Given the description of an element on the screen output the (x, y) to click on. 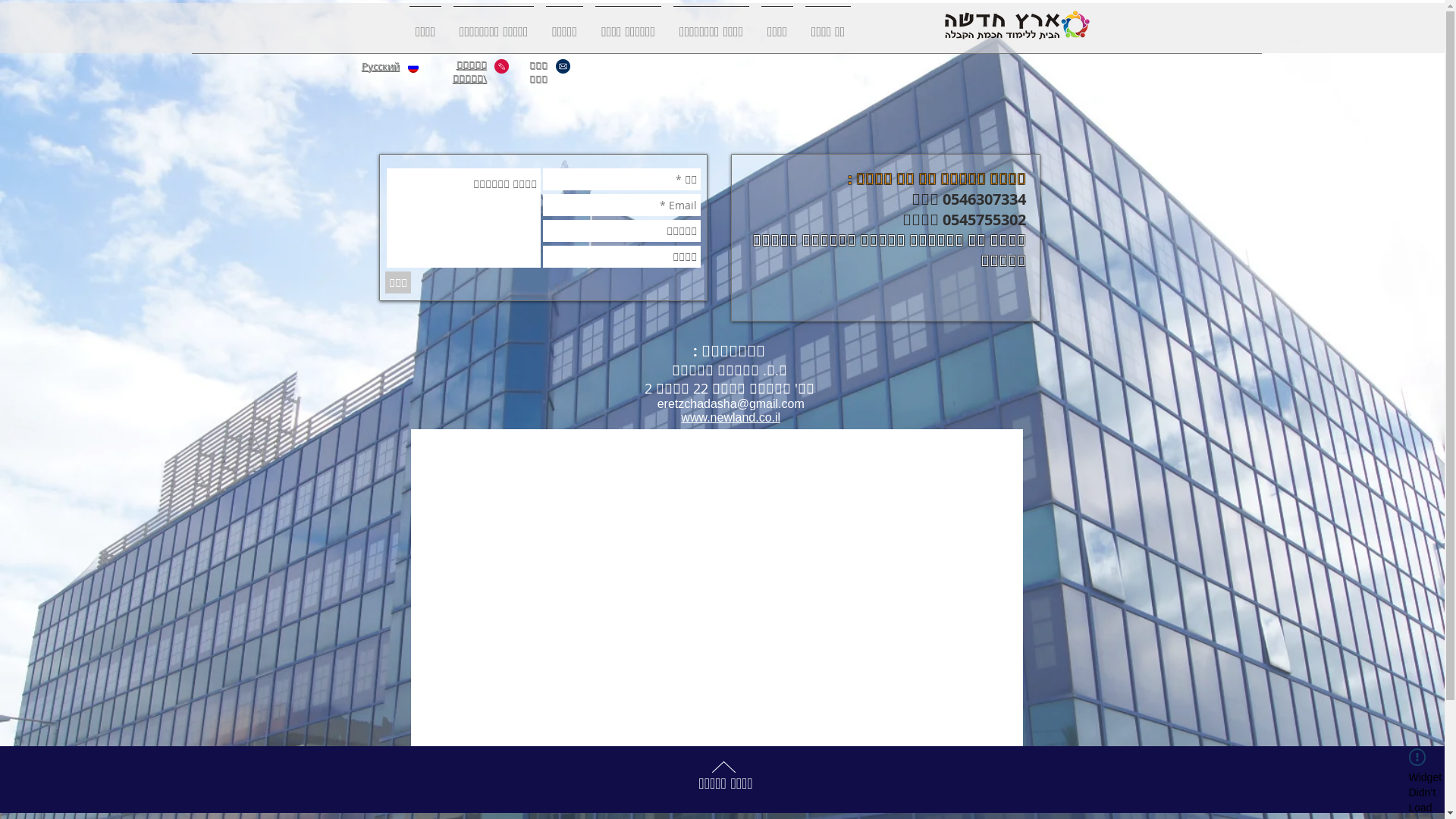
Google Maps Element type: hover (715, 587)
www.newland.co.il Element type: text (730, 417)
eretzchadasha@gmail.com Element type: text (730, 403)
